Given the description of an element on the screen output the (x, y) to click on. 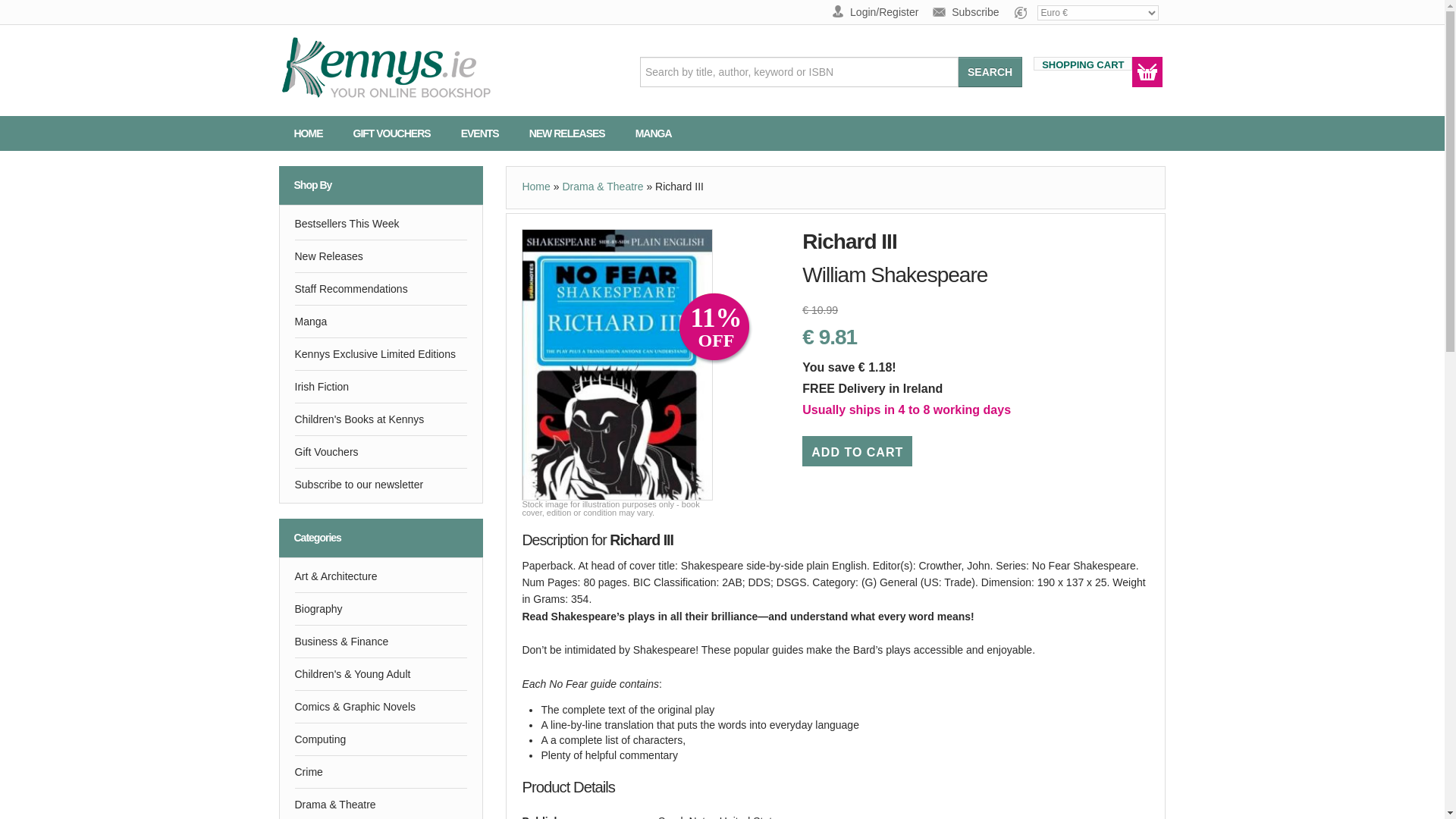
Bestsellers This Week (380, 223)
Irish Fiction (380, 386)
EVENTS (479, 133)
Biography (380, 608)
Kennys Exclusive Limited Editions (380, 354)
NEW RELEASES (566, 133)
GIFT VOUCHERS (391, 133)
Staff Recommendations (380, 288)
HOME (308, 133)
Crime (380, 771)
